Given the description of an element on the screen output the (x, y) to click on. 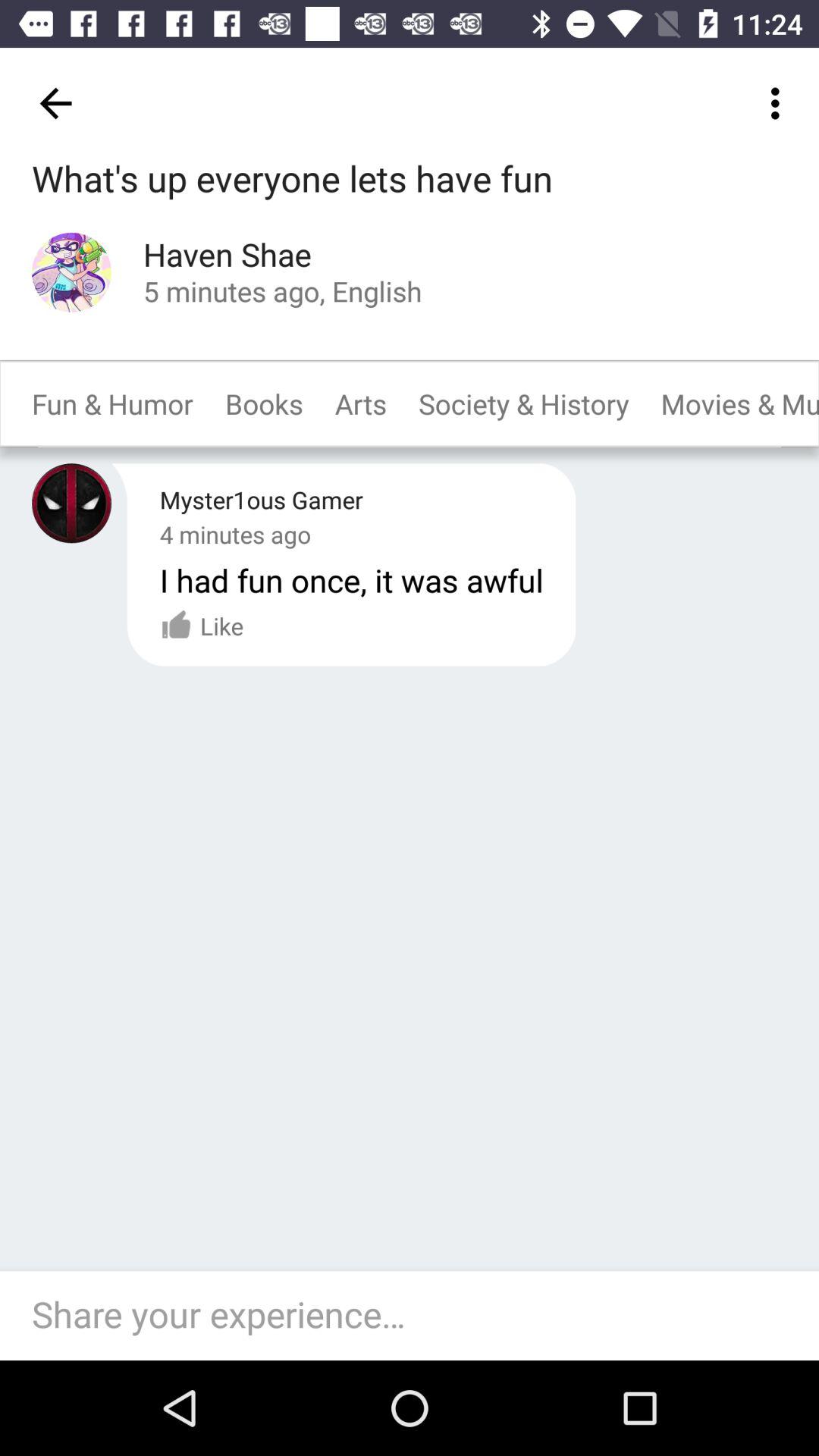
profile icon (71, 272)
